Given the description of an element on the screen output the (x, y) to click on. 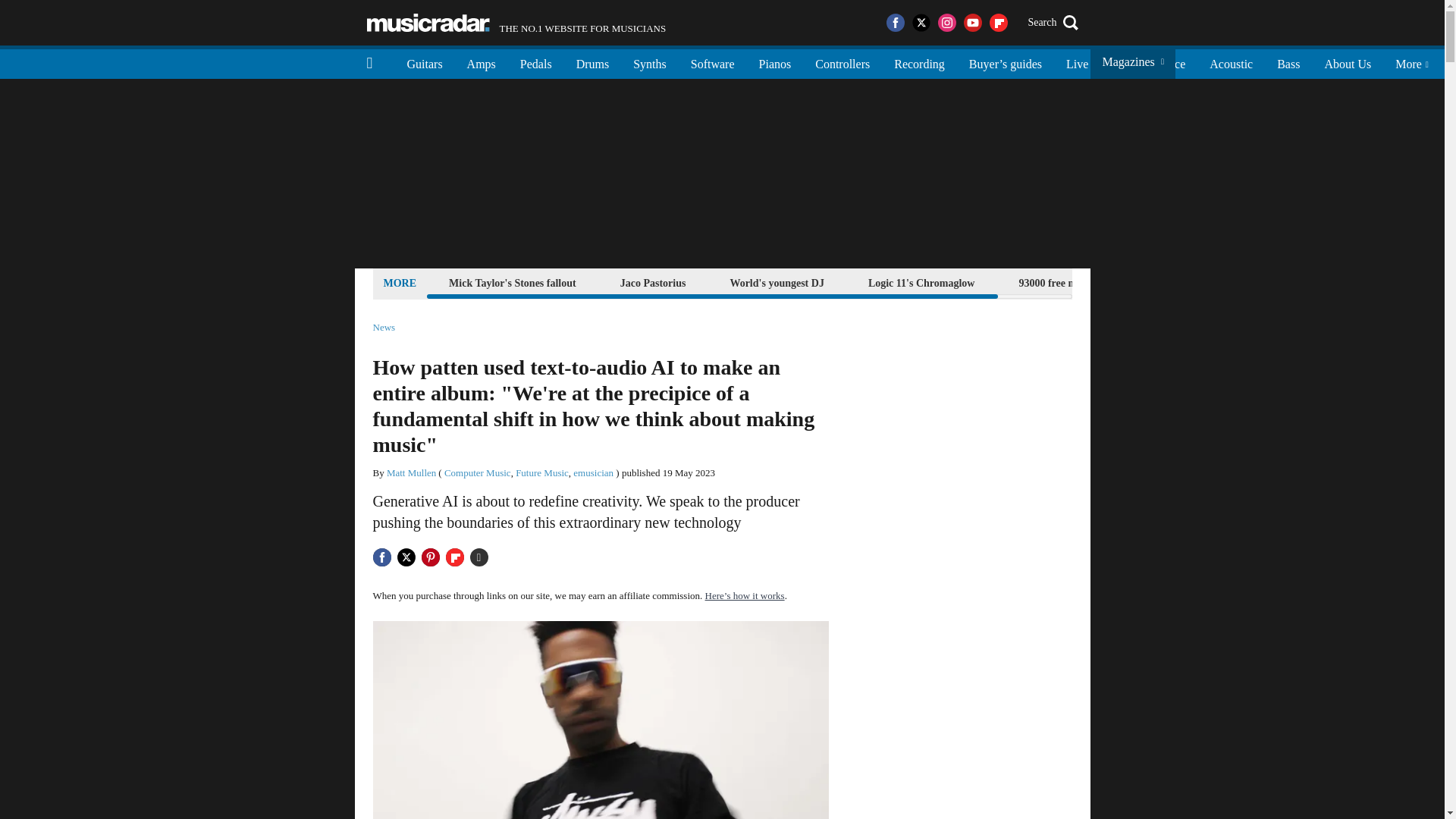
Live (1077, 61)
World's youngest DJ (775, 282)
Acoustic (1230, 61)
Bass (1288, 61)
Guitars (424, 61)
About Us (1347, 61)
Recording (919, 61)
93000 free music samples (1075, 282)
DJ (1119, 61)
Amps (481, 61)
Software (712, 61)
Mick Taylor's Stones fallout (512, 282)
Controllers (842, 61)
Logic 11's Chromaglow (921, 282)
